Given the description of an element on the screen output the (x, y) to click on. 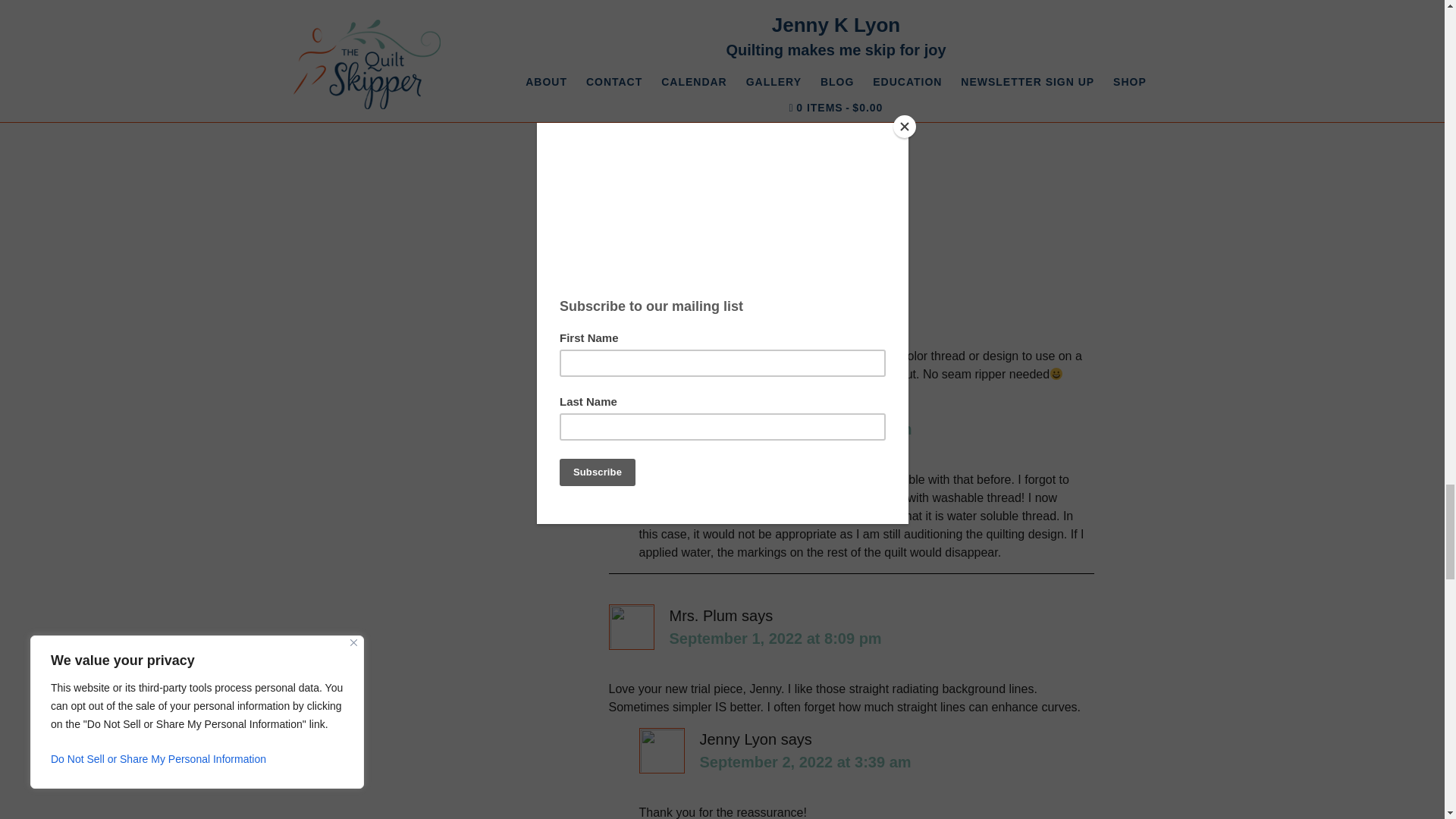
September 1, 2022 at 3:19 pm (804, 428)
Marc Adams School of Woodworking (945, 2)
Remodel (844, 187)
Finished or Not Friday (672, 129)
Quilts and Art Quilts (764, 187)
September 1, 2022 at 9:40 am (774, 305)
Life (697, 187)
Empty Spools (770, 2)
